Given the description of an element on the screen output the (x, y) to click on. 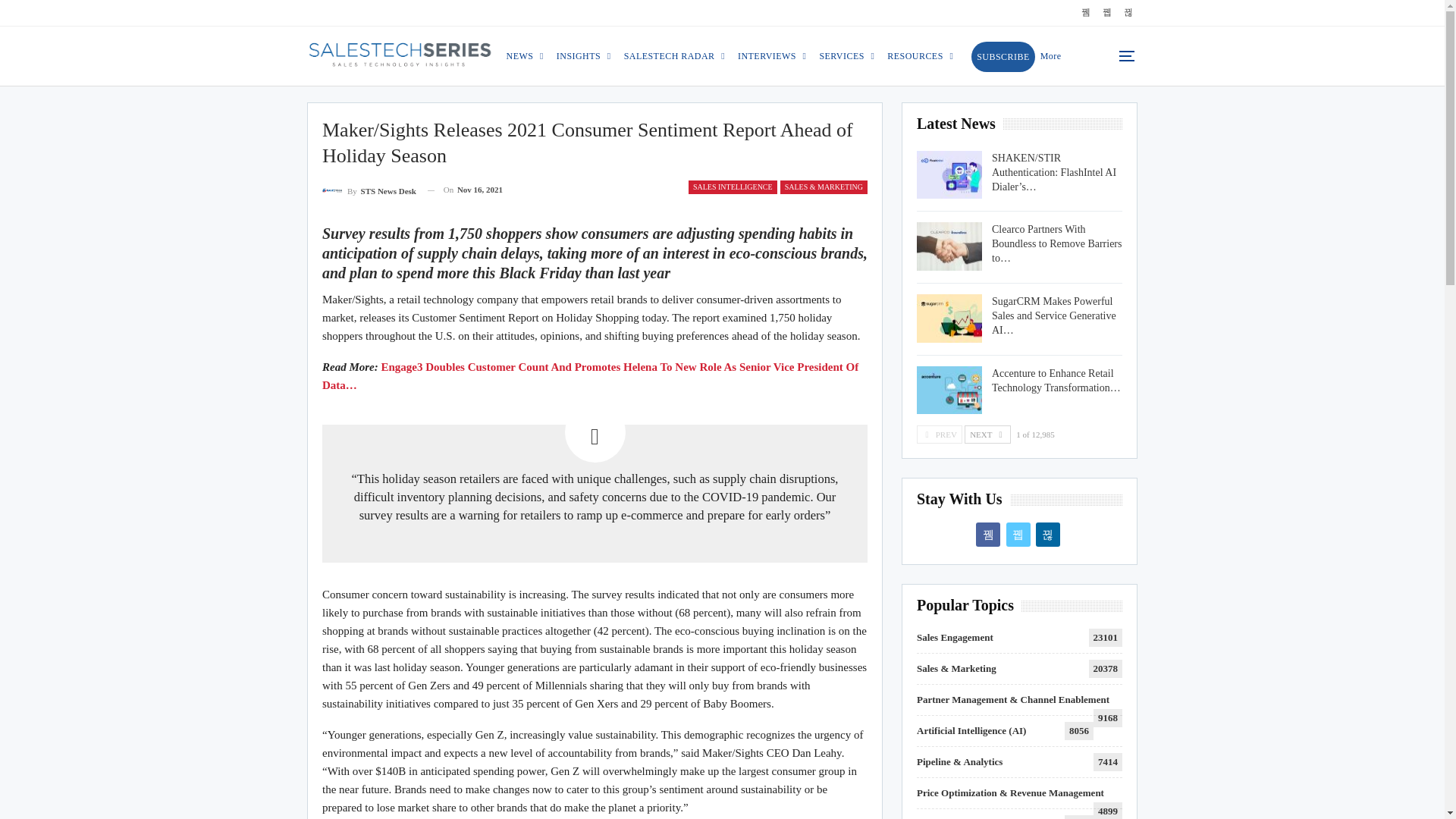
Browse Author Articles (368, 189)
